Given the description of an element on the screen output the (x, y) to click on. 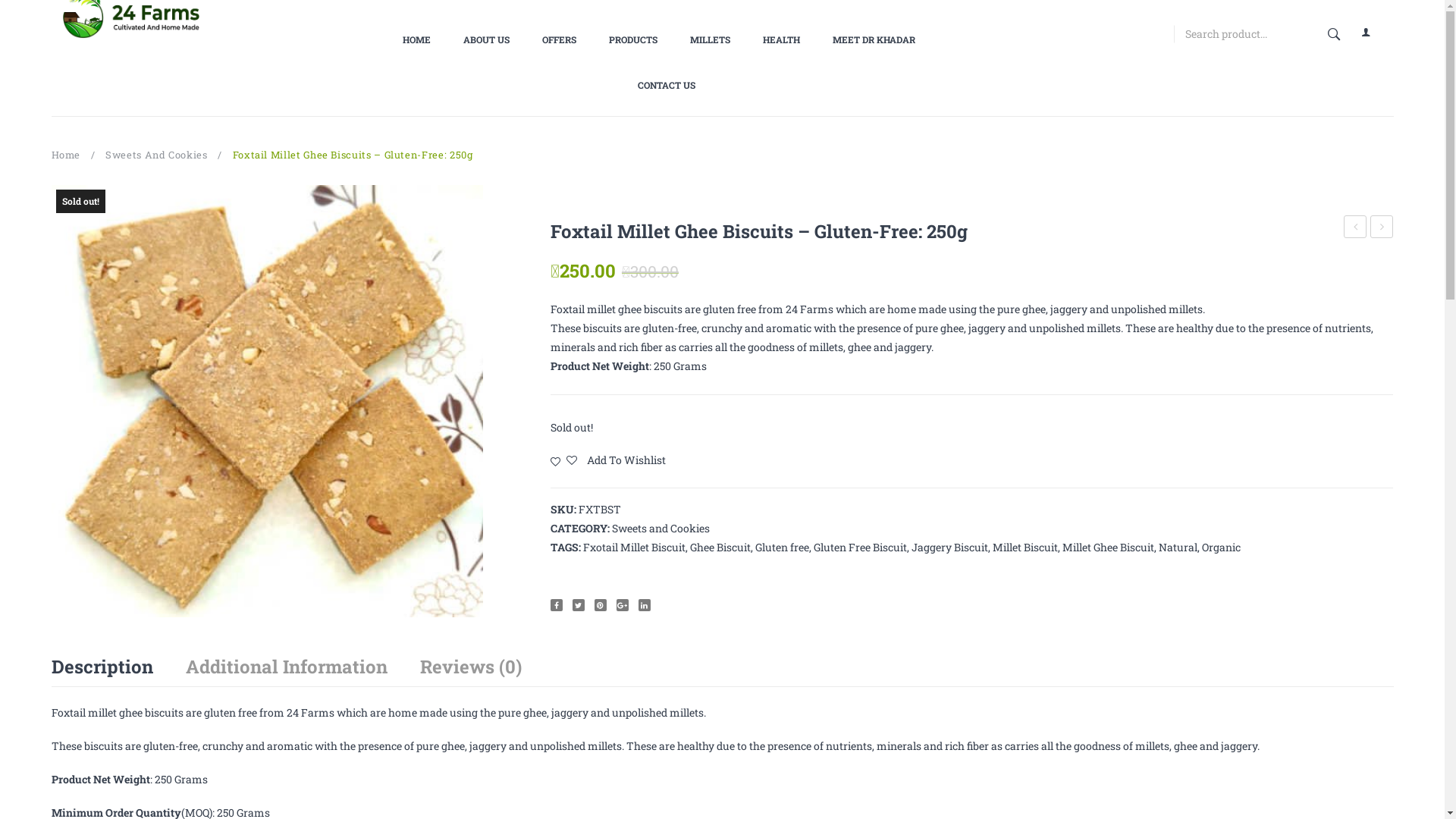
Gluten free Element type: text (782, 546)
Jaggery Biscuit Element type: text (949, 546)
Natural Element type: text (1177, 546)
HEALTH Element type: text (781, 39)
Ghee Biscuit Element type: text (720, 546)
24 Farms Foxtail Ghee Biscuits Gluten Free Element type: hover (267, 401)
Home Element type: text (66, 154)
OFFERS Element type: text (559, 39)
MEET DR KHADAR Element type: text (873, 39)
Sweets And Cookies Element type: text (156, 154)
CONTACT US Element type: text (666, 84)
ABOUT US Element type: text (486, 39)
Sweets and Cookies Element type: text (660, 527)
Pinterest Element type: hover (600, 605)
LinkedIn Element type: hover (644, 605)
Millet Ghee Biscuit Element type: text (1108, 546)
Add To Wishlist Element type: text (607, 459)
PRODUCTS Element type: text (632, 39)
Reviews (0) Element type: text (470, 666)
Twitter Element type: hover (578, 605)
Organic Element type: text (1220, 546)
HOME Element type: text (423, 39)
Description Element type: text (102, 666)
Facebook Element type: hover (556, 605)
Additional Information Element type: text (285, 666)
Gluten Free Biscuit Element type: text (859, 546)
Google + Element type: hover (622, 605)
Fxotail Millet Biscuit Element type: text (634, 546)
Millet Biscuit Element type: text (1024, 546)
MILLETS Element type: text (709, 39)
